Given the description of an element on the screen output the (x, y) to click on. 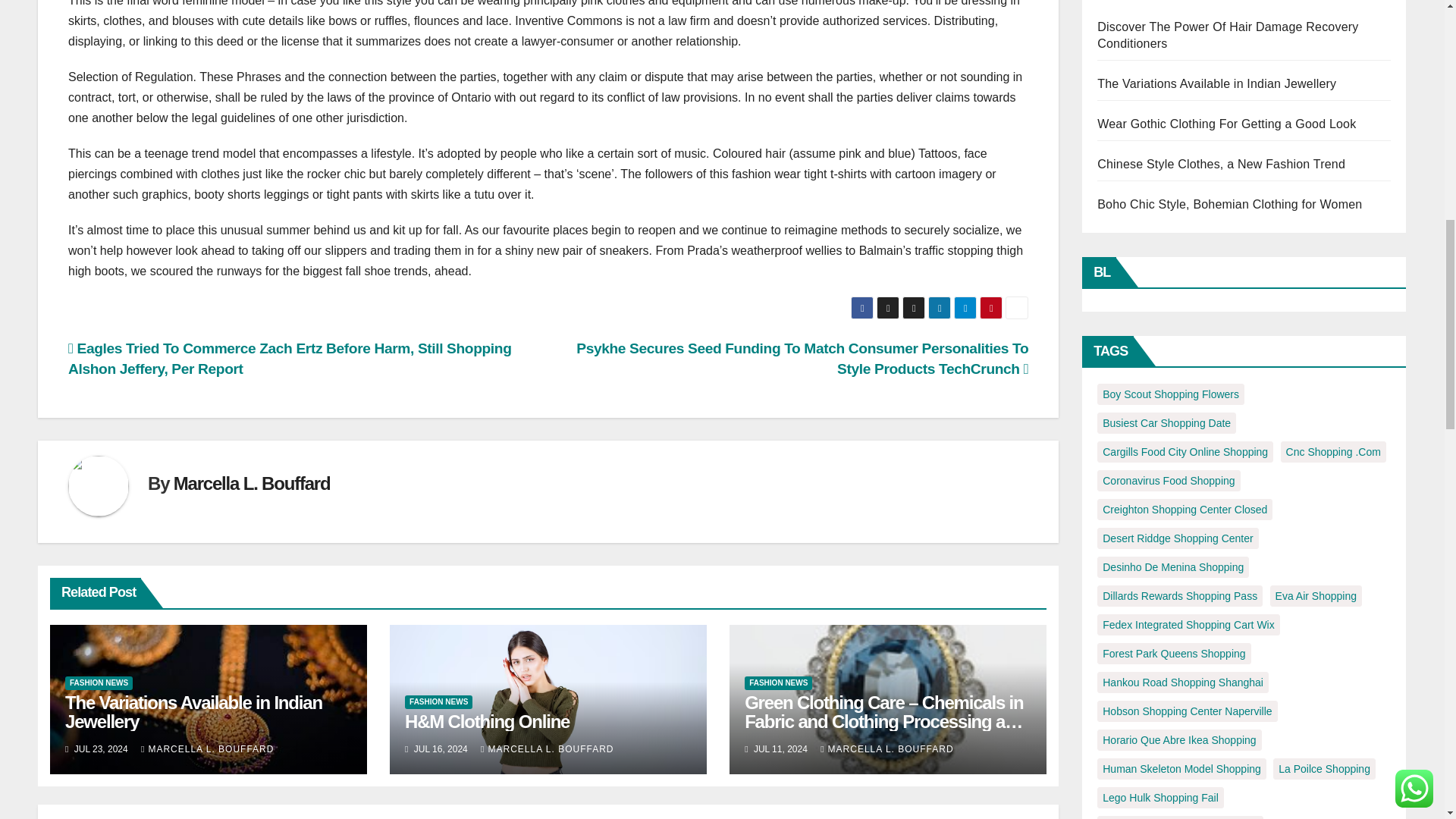
Permalink to: The Variations Available in Indian Jewellery (193, 712)
Marcella L. Bouffard (251, 483)
FASHION NEWS (98, 683)
